Given the description of an element on the screen output the (x, y) to click on. 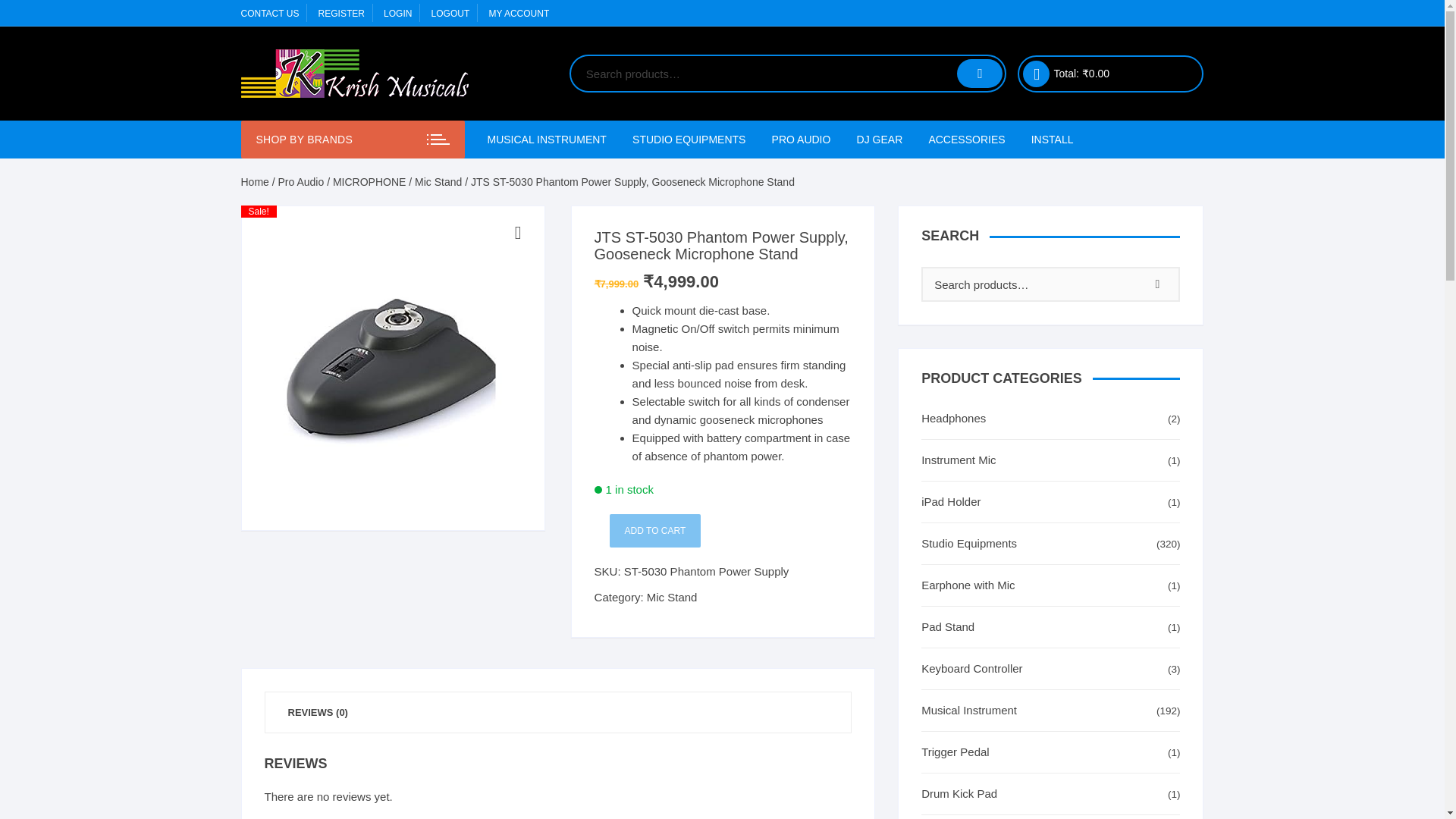
Microphone (715, 176)
Melodica (771, 503)
Bass guitar (771, 248)
Multi Drum Sticks- Medium (771, 358)
Electric guitar (771, 176)
REGISTER (341, 13)
Drum Microphone (905, 212)
Pencil Condenser microphone (905, 285)
SHOP BY BRANDS (304, 139)
Snare drum (771, 467)
Piano (581, 285)
SHOP BY BRANDS (352, 139)
Dynamic Microphone (905, 248)
MY ACCOUNT (517, 13)
Processor (771, 321)
